Given the description of an element on the screen output the (x, y) to click on. 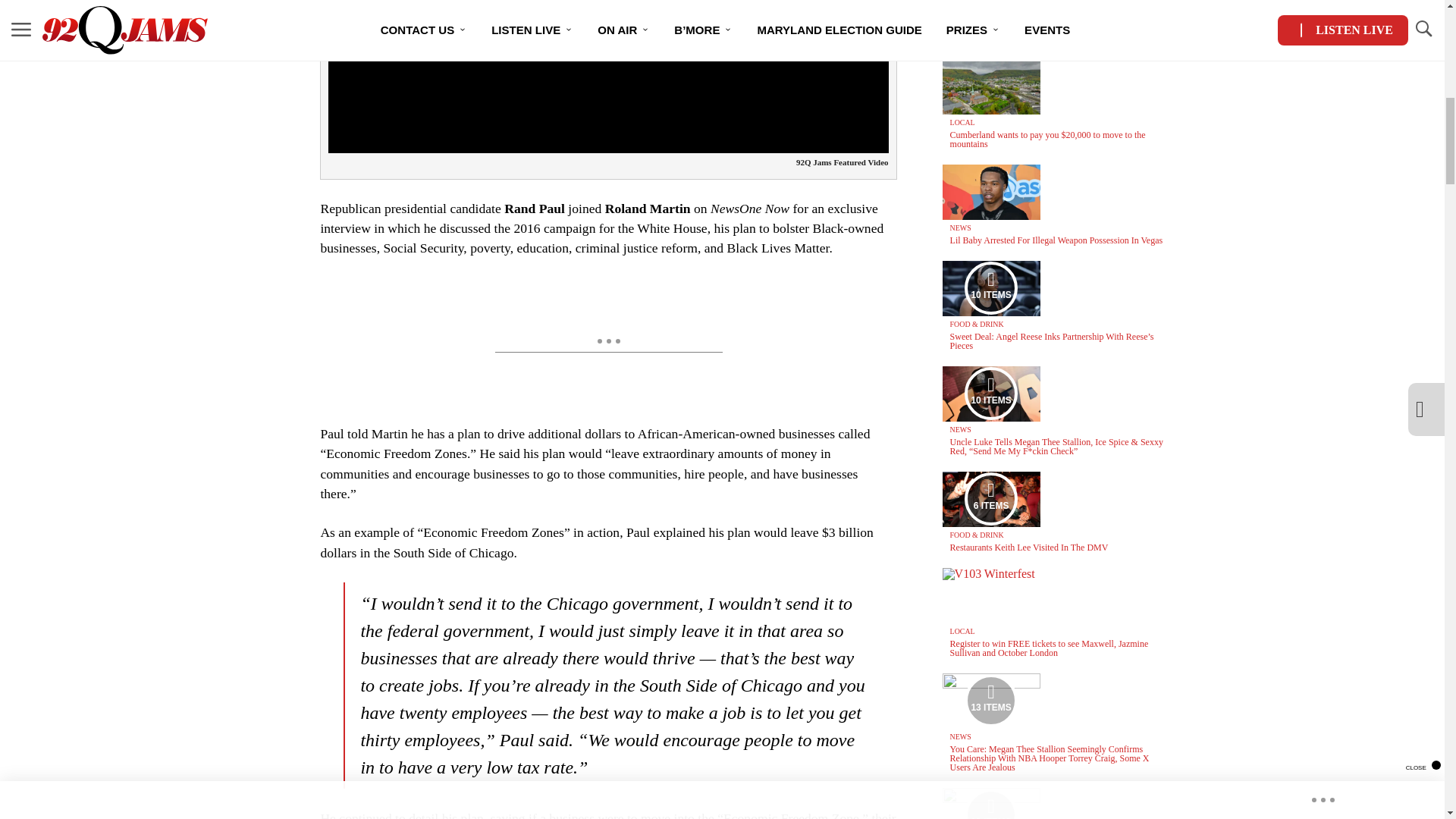
Media Playlist (990, 393)
Media Playlist (990, 498)
Media Playlist (990, 803)
Media Playlist (990, 700)
Media Playlist (990, 287)
